Given the description of an element on the screen output the (x, y) to click on. 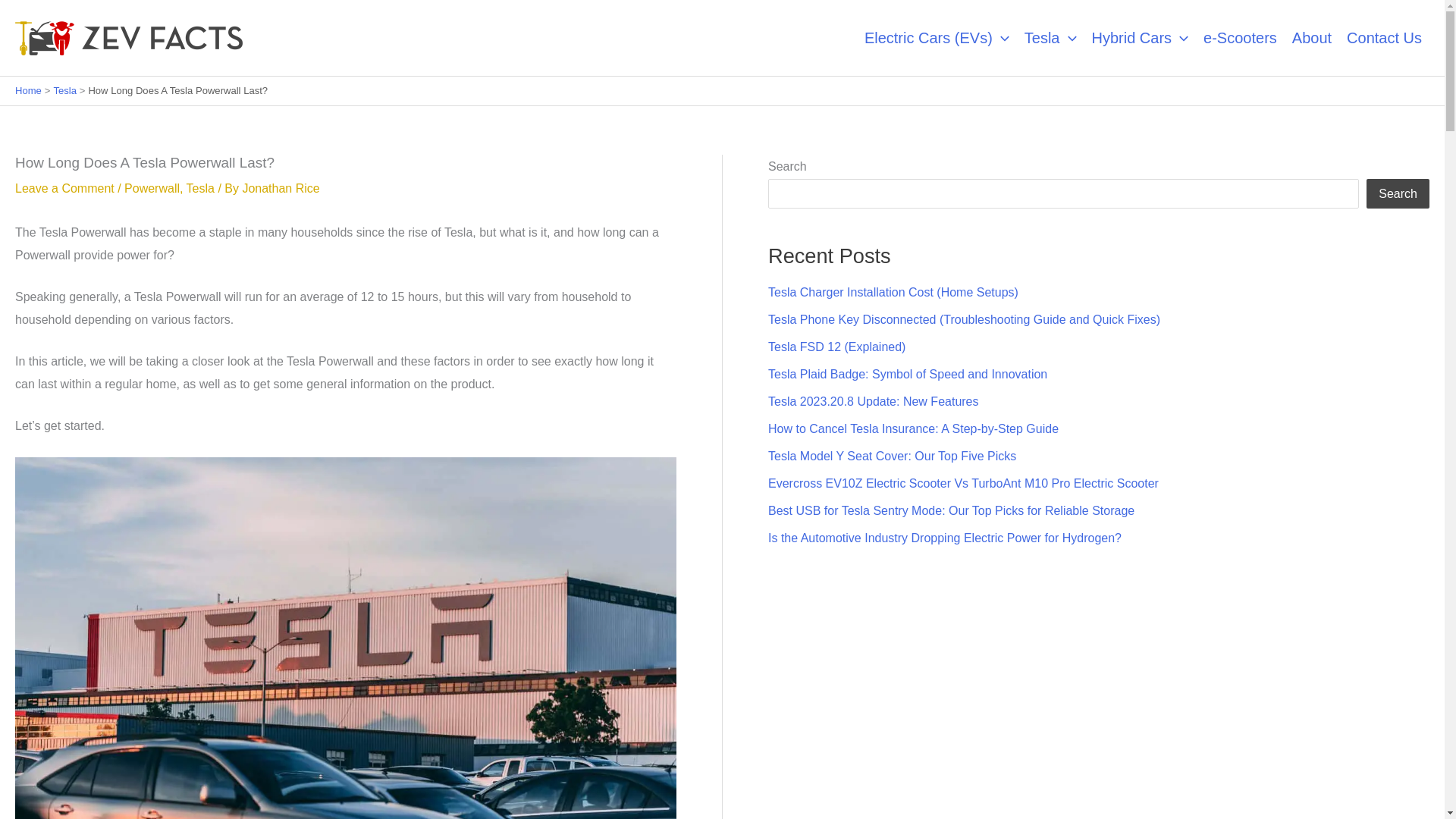
Tesla (1050, 38)
View all posts by Jonathan Rice (279, 187)
Hybrid Cars (1140, 38)
e-Scooters (1239, 38)
Contact Us (1384, 38)
